Given the description of an element on the screen output the (x, y) to click on. 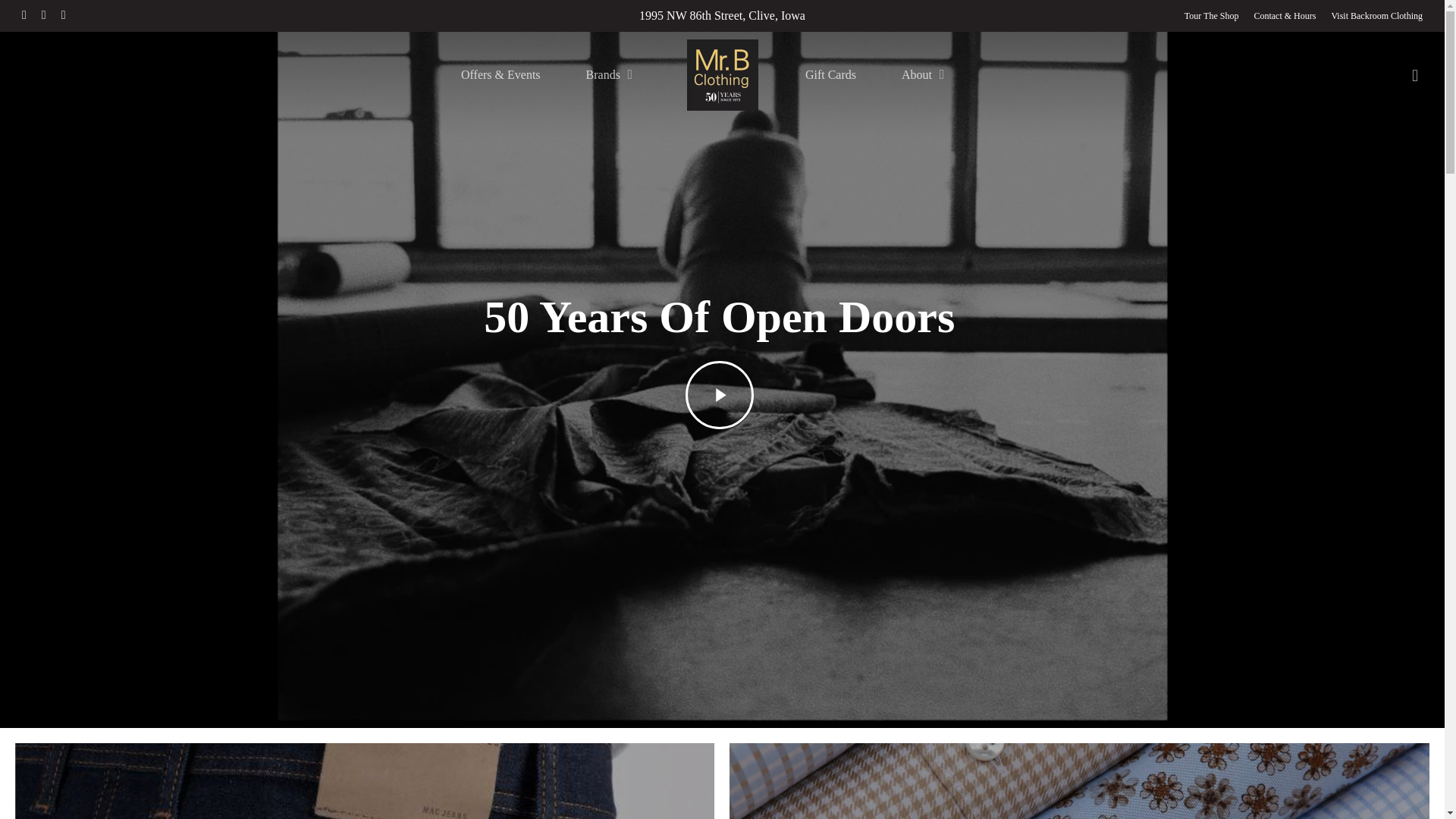
About (924, 74)
Gift Cards (830, 74)
Brands (610, 74)
Visit Backroom Clothing (1376, 15)
1995 NW 86th Street, Clive, Iowa (722, 15)
Tour The Shop (1212, 15)
